Given the description of an element on the screen output the (x, y) to click on. 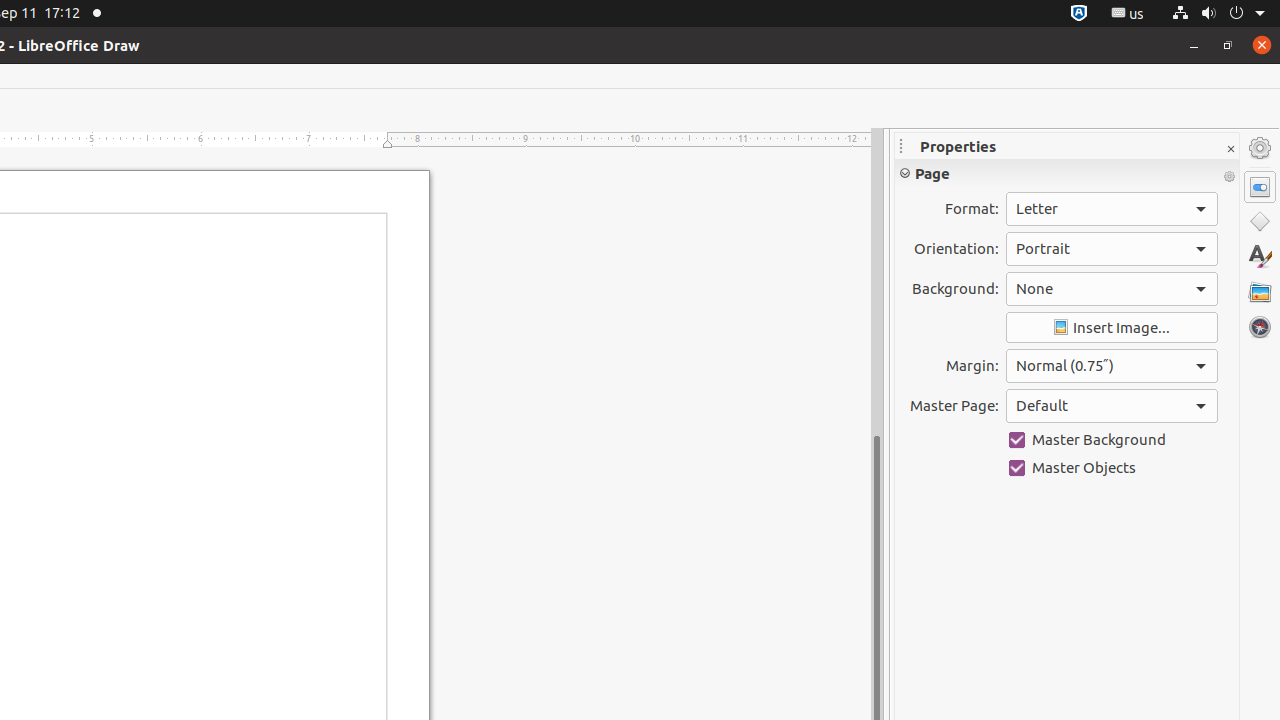
Master Background Element type: check-box (1112, 440)
Close Sidebar Deck Element type: push-button (1230, 149)
System Element type: menu (1218, 13)
Styles Element type: radio-button (1260, 256)
Properties Element type: radio-button (1260, 187)
